Given the description of an element on the screen output the (x, y) to click on. 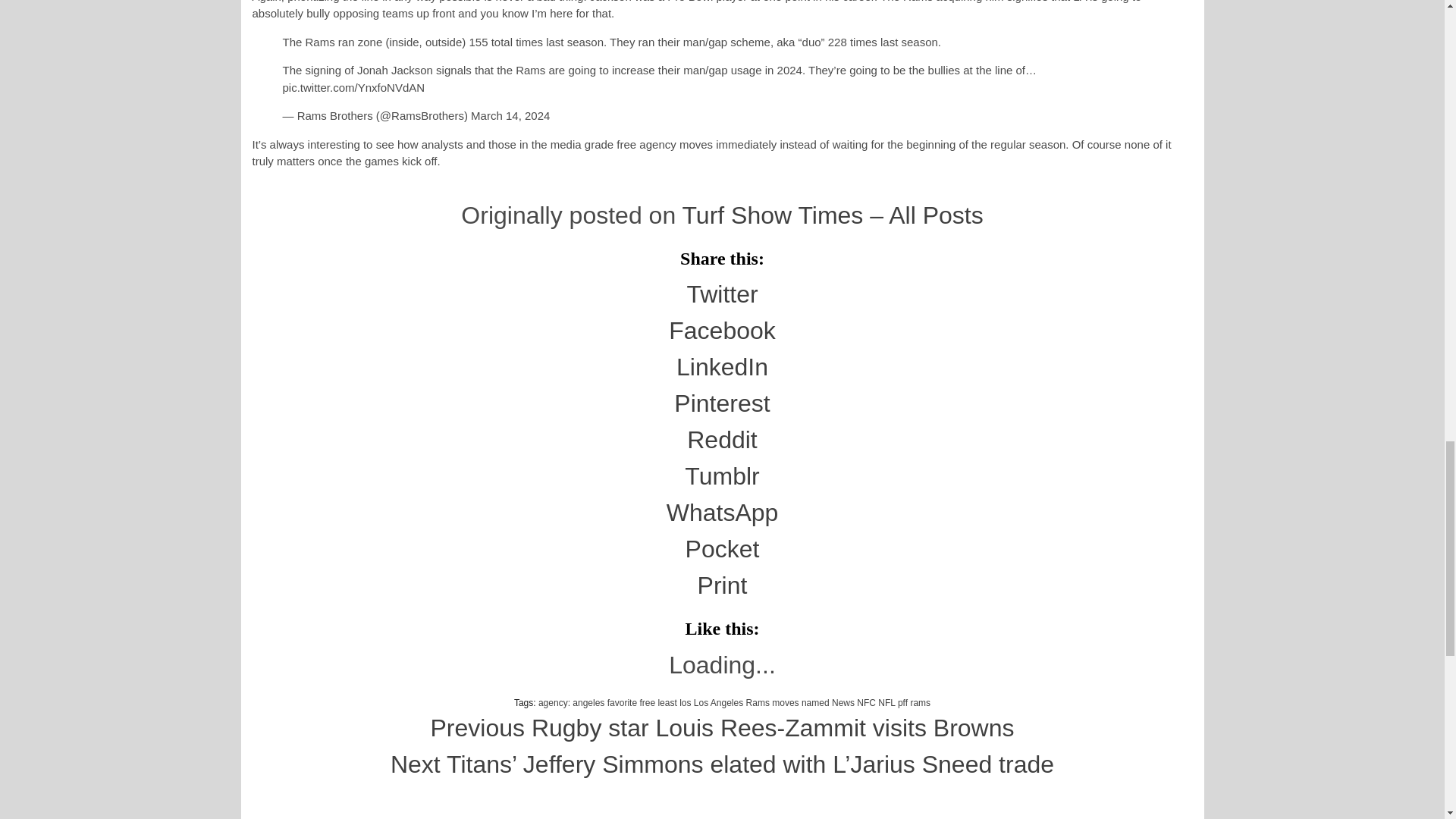
Click to share on Twitter (721, 293)
Click to share on LinkedIn (722, 366)
Click to share on WhatsApp (722, 512)
Click to share on Reddit (722, 439)
Click to share on Facebook (722, 329)
Click to share on Pinterest (722, 402)
Click to share on Tumblr (721, 475)
Click to print (722, 584)
Click to share on Pocket (722, 548)
